Given the description of an element on the screen output the (x, y) to click on. 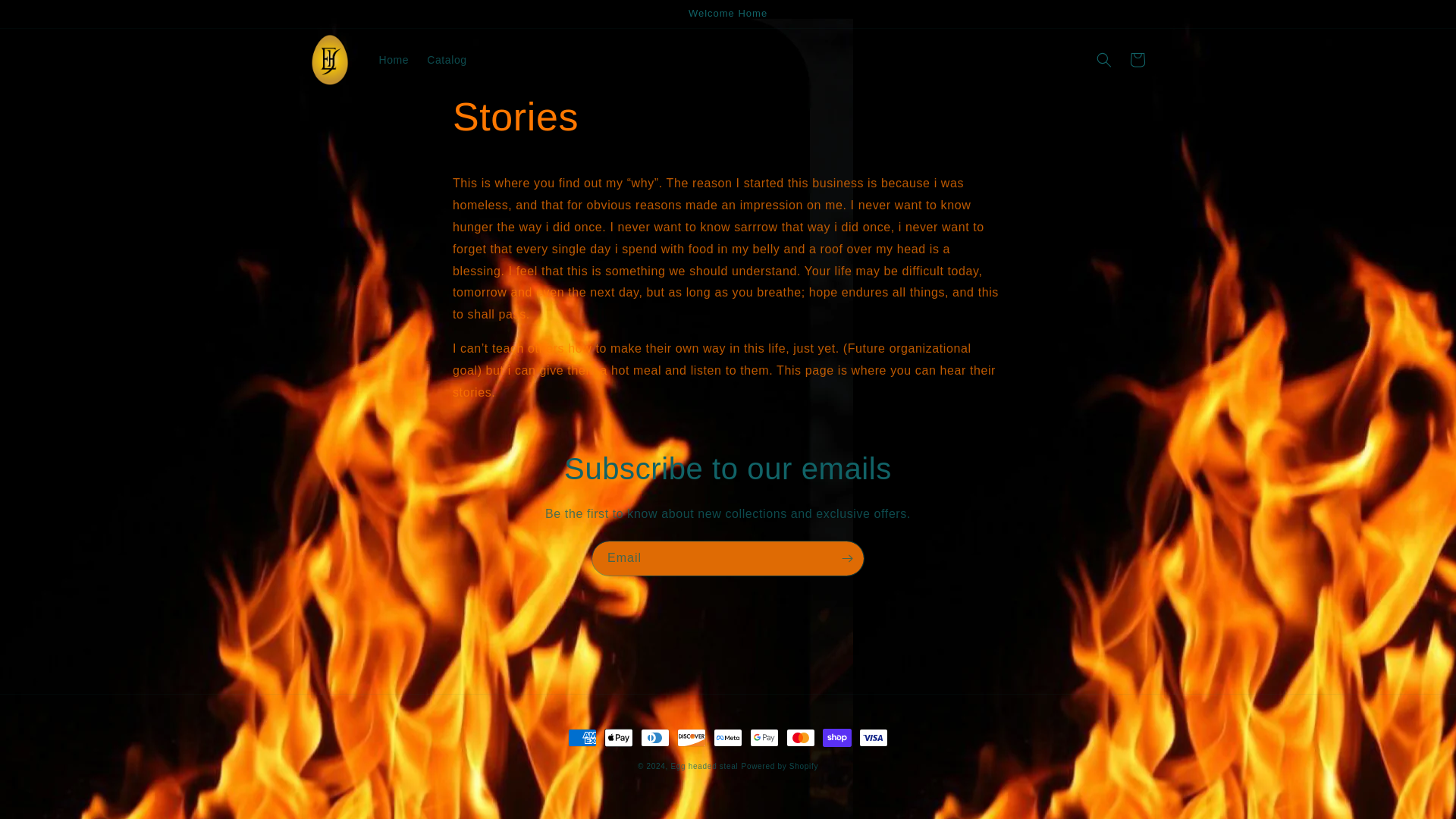
Home (394, 60)
Catalog (446, 60)
Skip to content (47, 18)
Powered by Shopify (779, 766)
Cart (1137, 59)
Egg headed steal (703, 766)
